Given the description of an element on the screen output the (x, y) to click on. 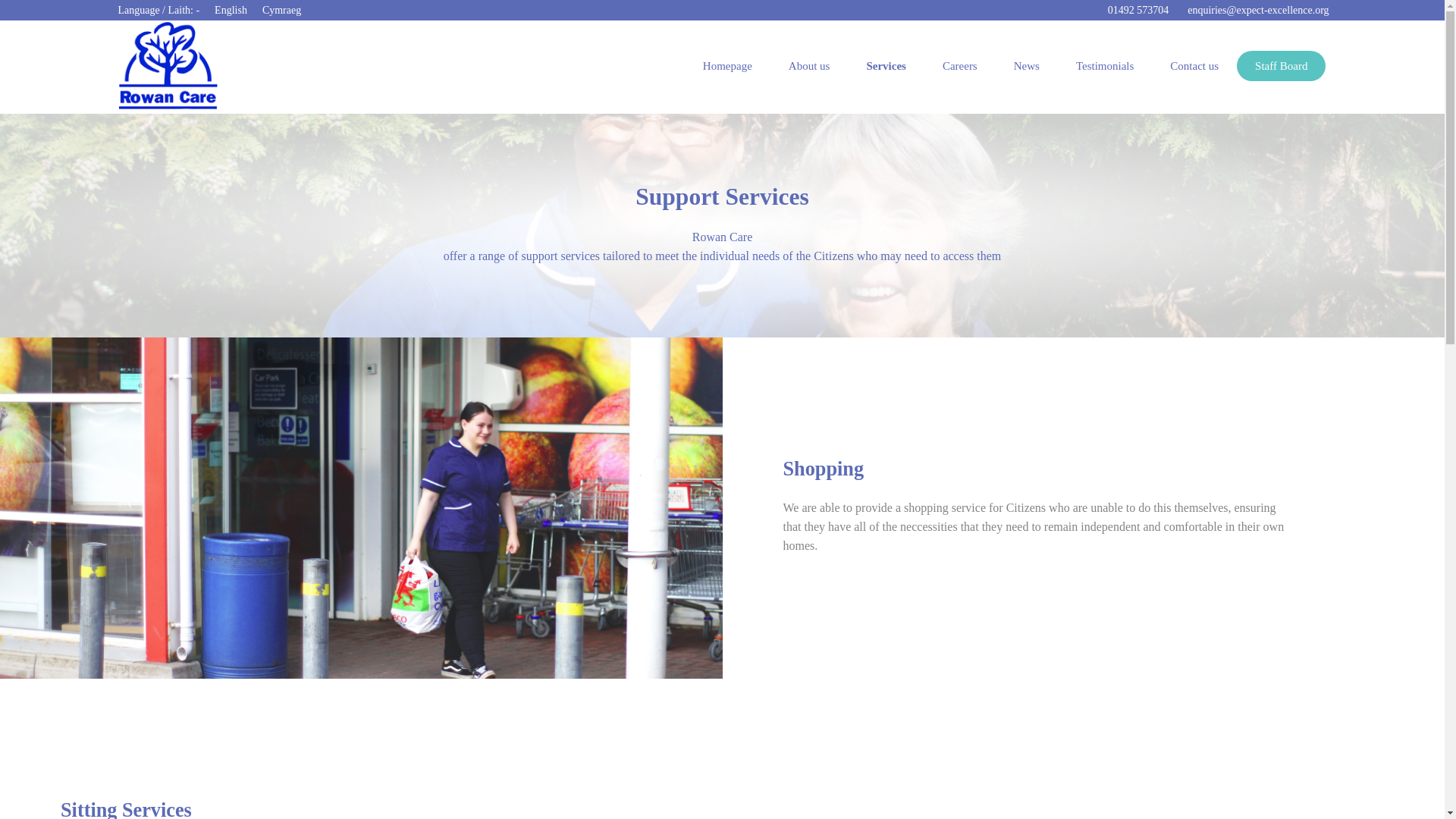
News (1026, 65)
Homepage (727, 65)
Staff Board (1280, 65)
Testimonials (1104, 65)
01492 573704 (1136, 10)
Services (885, 65)
Cymraeg (281, 10)
English (230, 10)
Contact us (1193, 65)
Careers (959, 65)
